Given the description of an element on the screen output the (x, y) to click on. 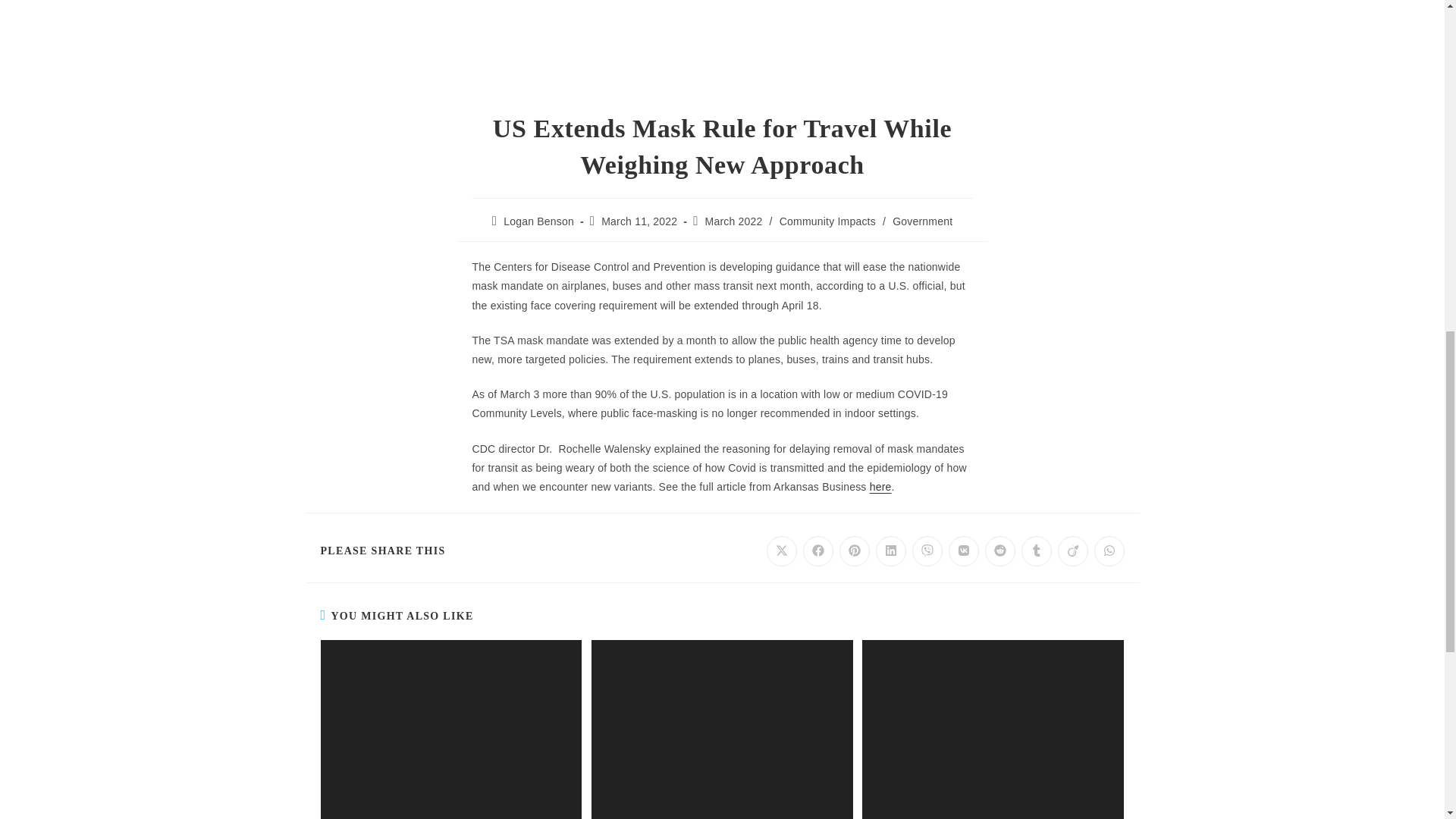
Posts by Logan Benson (538, 221)
